Given the description of an element on the screen output the (x, y) to click on. 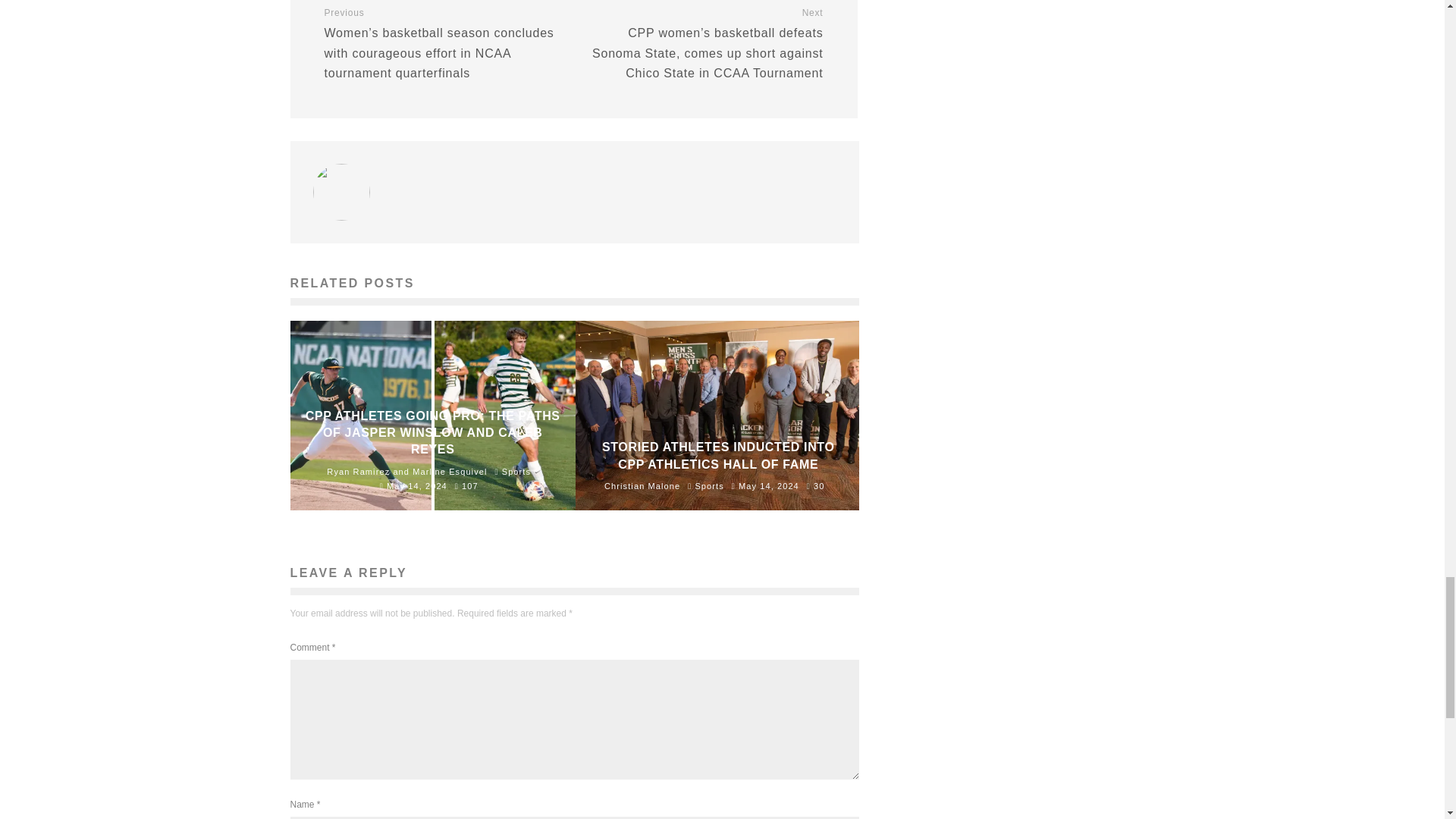
Posts by Ryan Ramirez (358, 470)
Posts by Christian Malone (641, 485)
Posts by Marline Esquivel (449, 470)
